Given the description of an element on the screen output the (x, y) to click on. 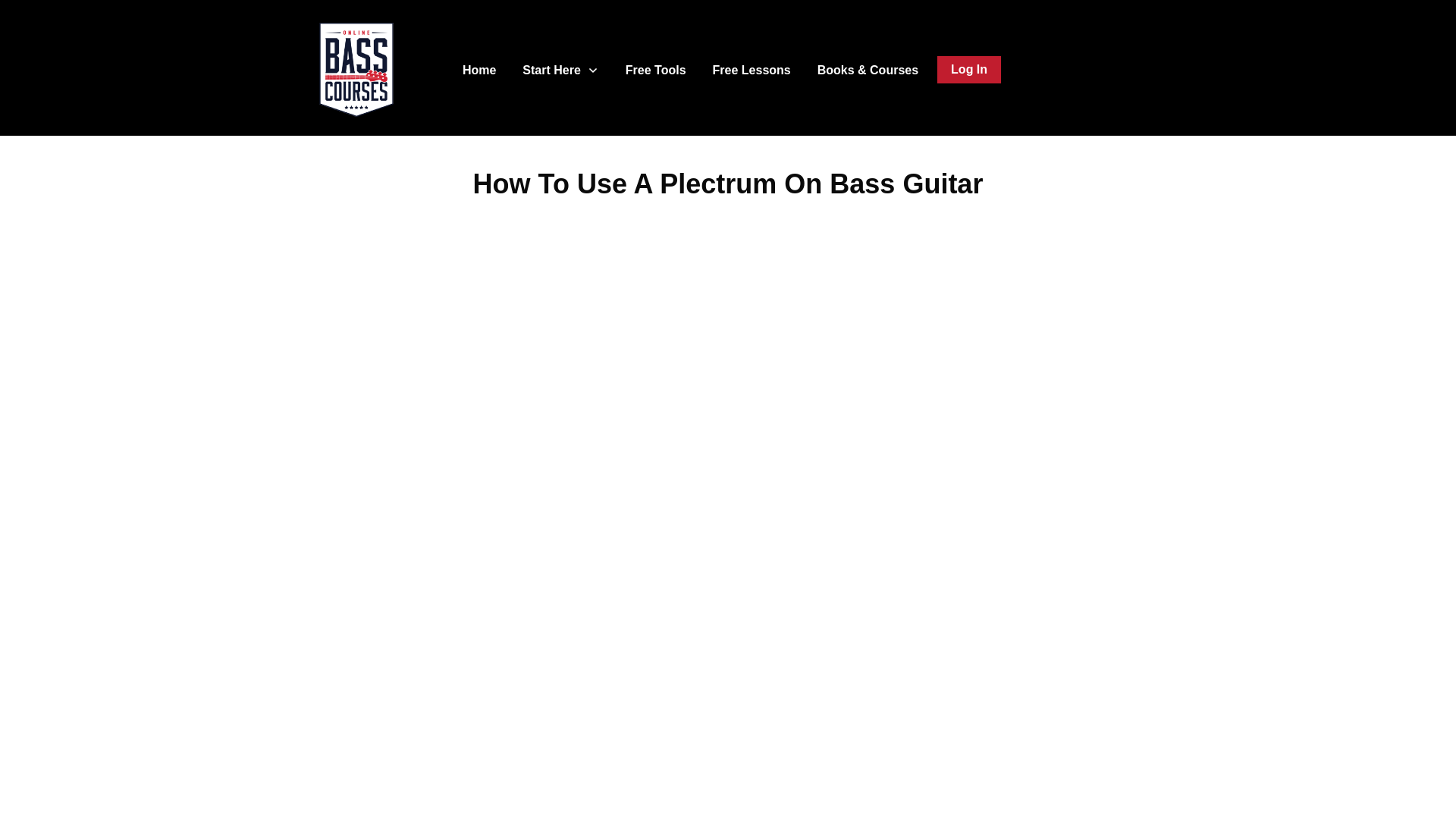
Start Here (560, 70)
Free Lessons (751, 70)
Home (479, 70)
Log In (968, 69)
Free Tools (655, 70)
